Given the description of an element on the screen output the (x, y) to click on. 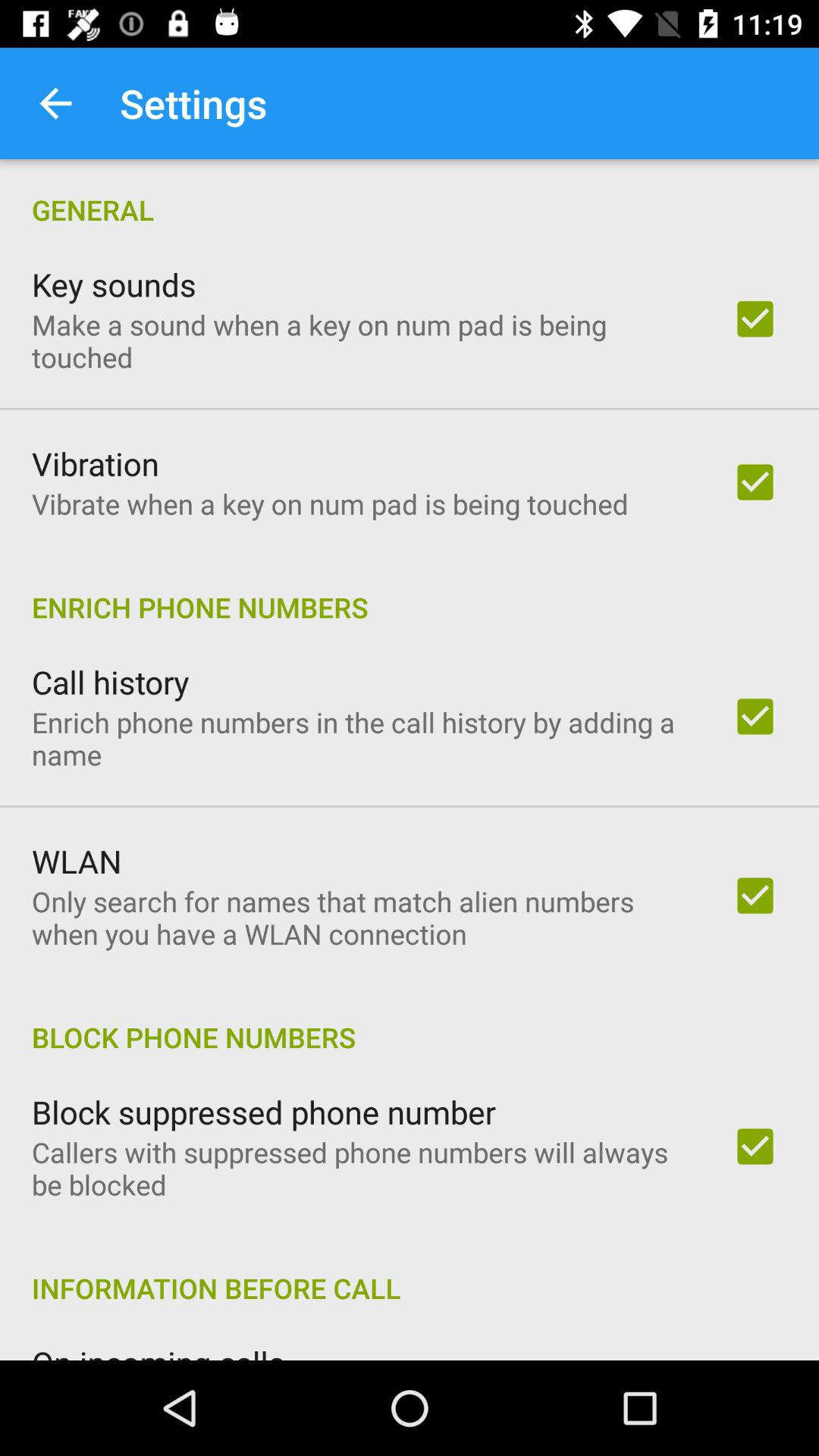
launch the key sounds item (113, 283)
